Given the description of an element on the screen output the (x, y) to click on. 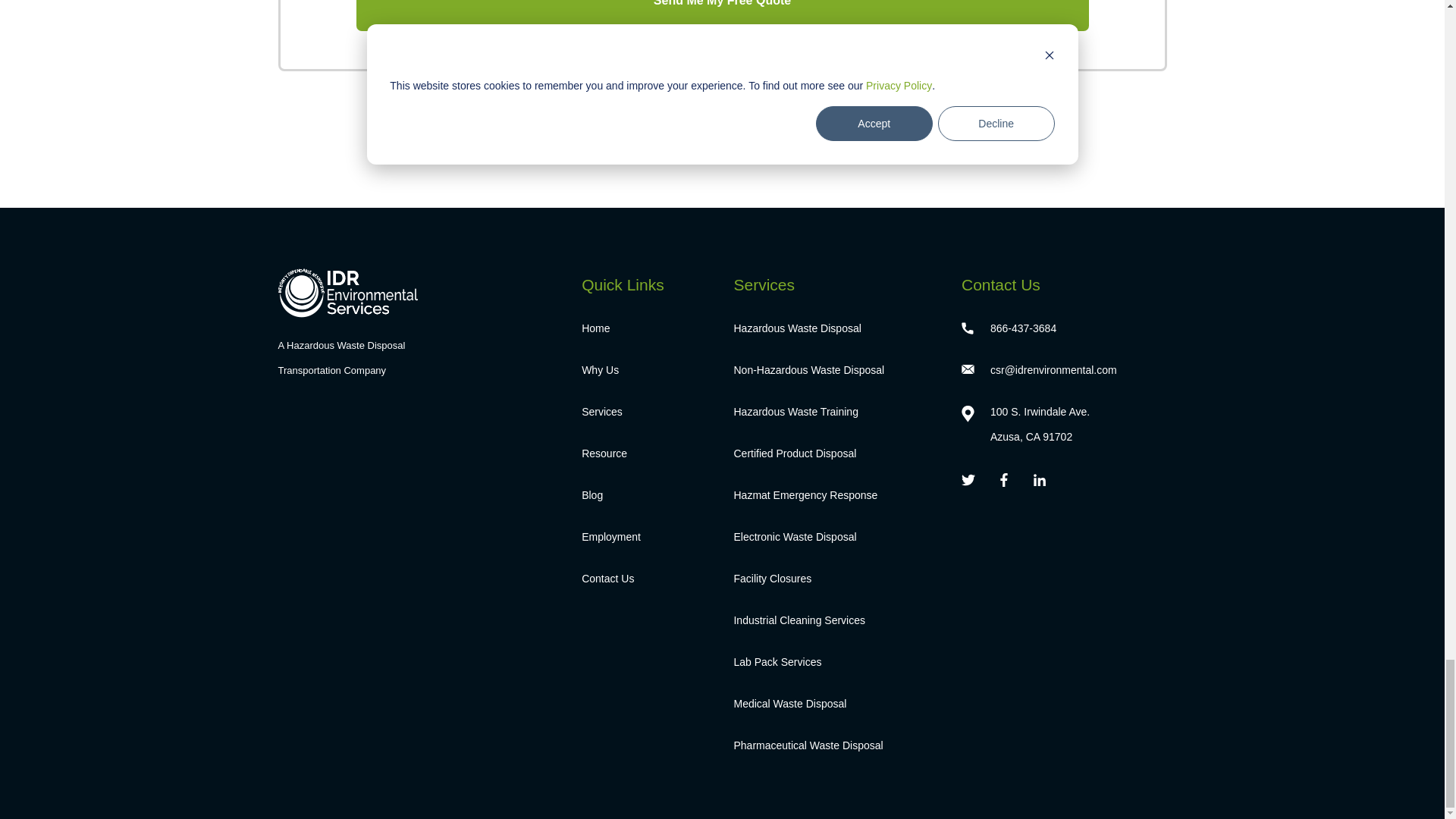
Non-Hazardous Waste Disposal (836, 370)
Services (645, 412)
Contact Us (645, 578)
Why Us (645, 370)
Resource (645, 453)
Hazardous Waste Disposal (836, 328)
Blog (645, 495)
Send Me My Free Quote (722, 15)
Home (645, 328)
Send Me My Free Quote (722, 15)
Employment (645, 536)
